Given the description of an element on the screen output the (x, y) to click on. 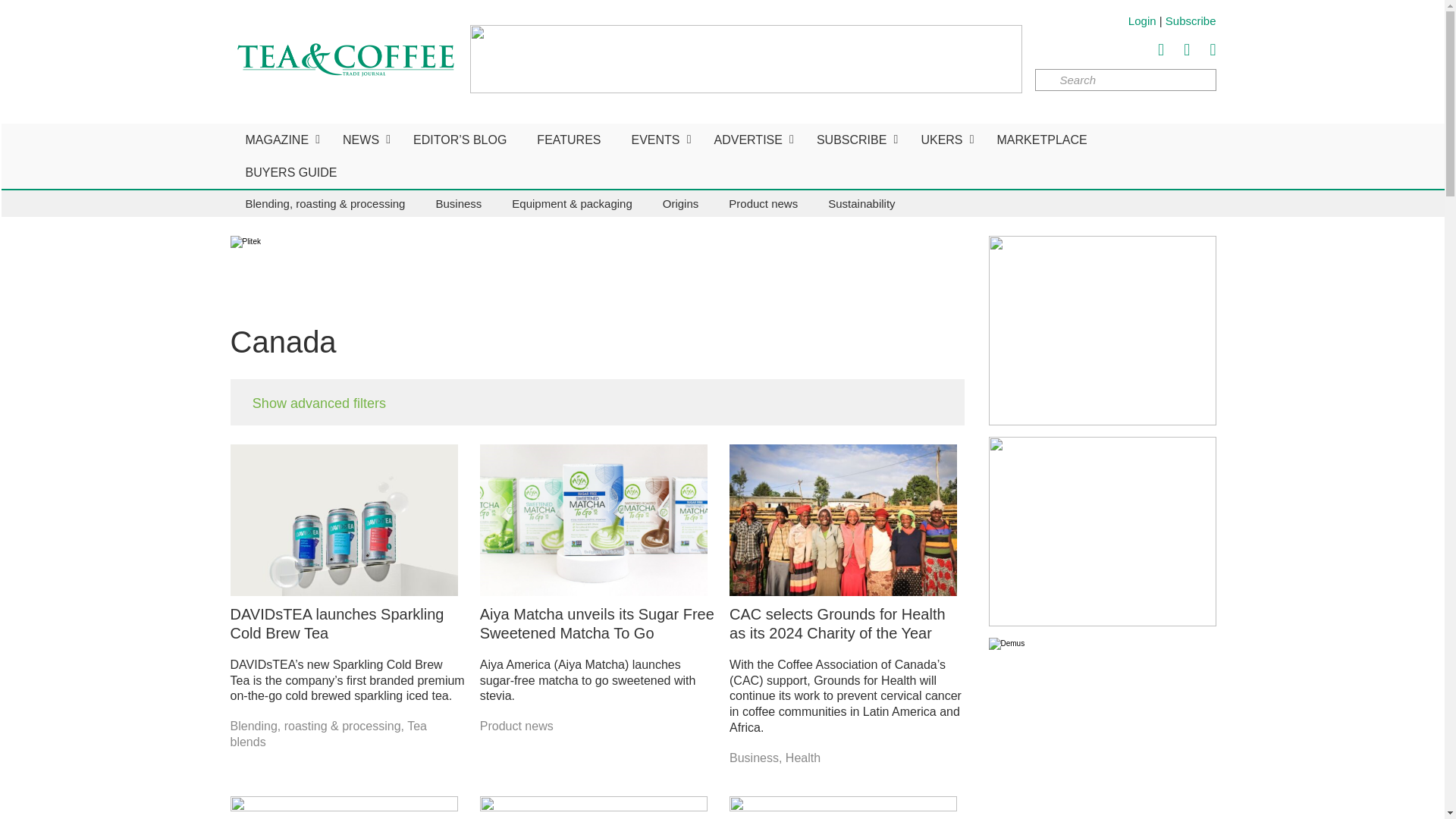
Search (1124, 79)
EVENTS (656, 139)
Demus (1101, 728)
Login (1142, 20)
Plitek (506, 269)
Search (1124, 79)
Subscribe (1190, 20)
MARKETPLACE (1041, 139)
Business (458, 203)
Origins (680, 203)
